Given the description of an element on the screen output the (x, y) to click on. 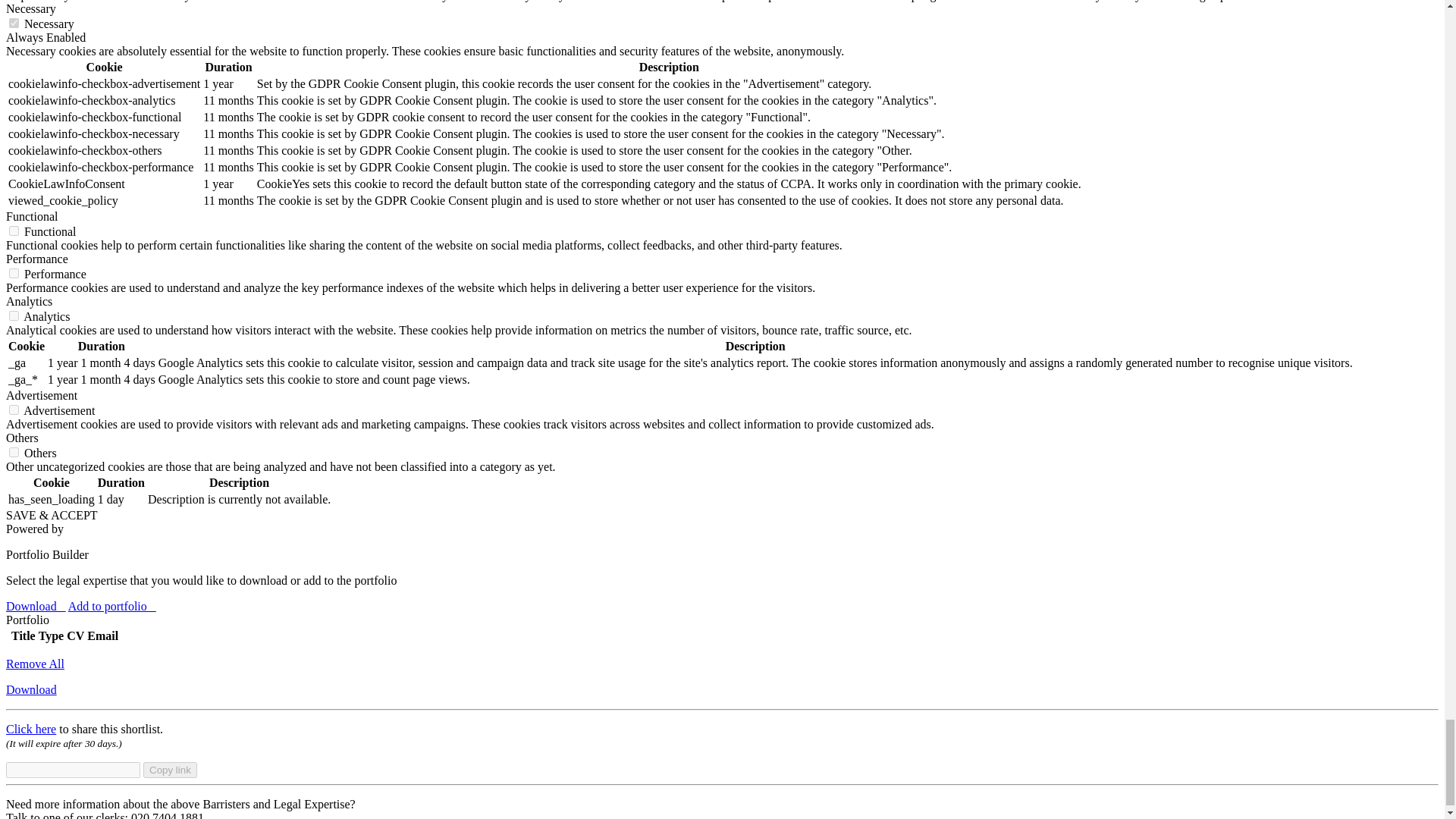
on (13, 452)
on (13, 409)
on (13, 230)
on (13, 316)
on (13, 273)
on (13, 22)
